Given the description of an element on the screen output the (x, y) to click on. 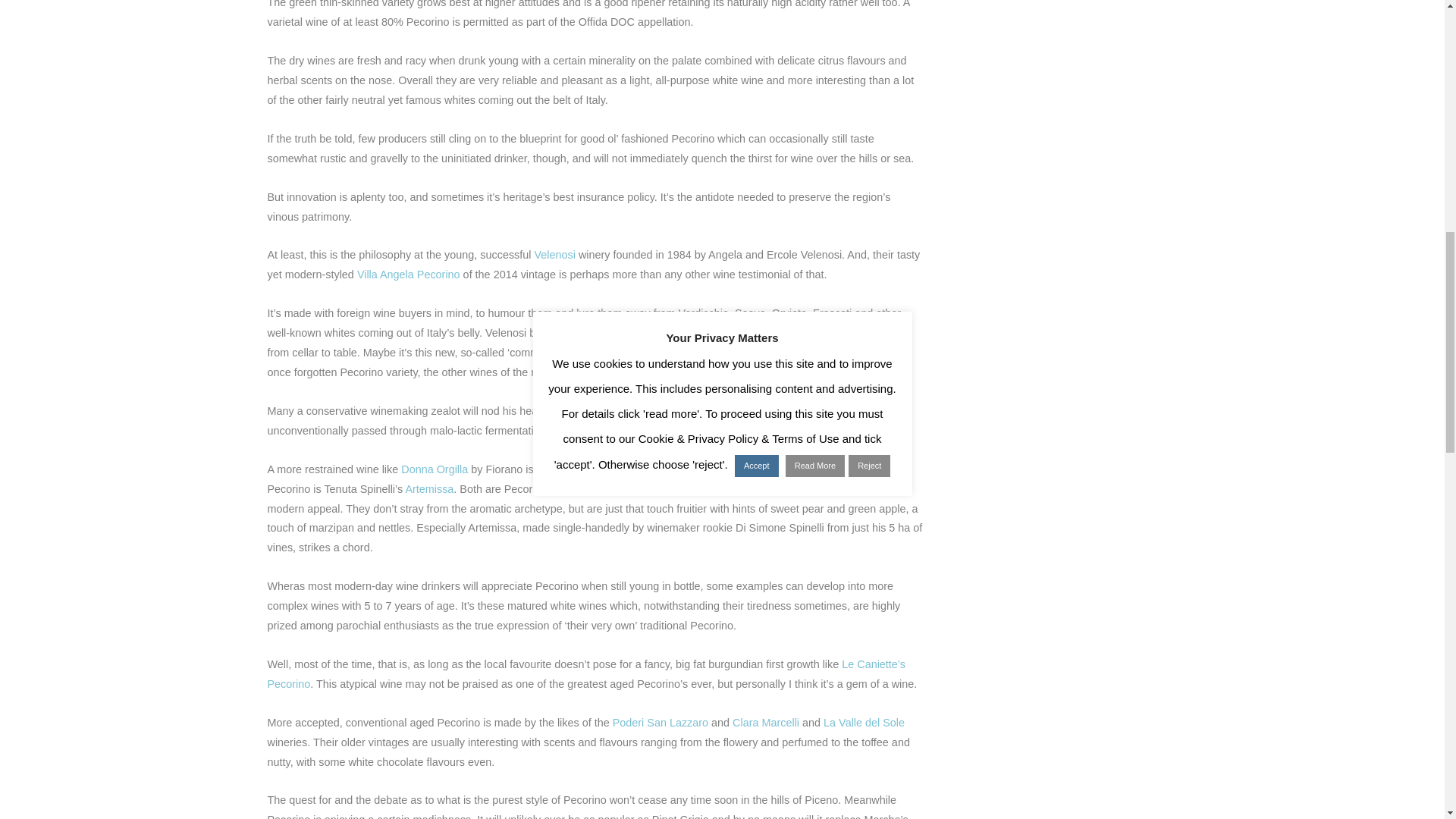
Donna Orgilla (434, 469)
Clara Marcelli (765, 722)
La Valle del Sole (864, 722)
Villa Angela Pecorino (408, 274)
Poderi San Lazzaro (659, 722)
Artemissa (428, 489)
Velenosi (554, 254)
